Given the description of an element on the screen output the (x, y) to click on. 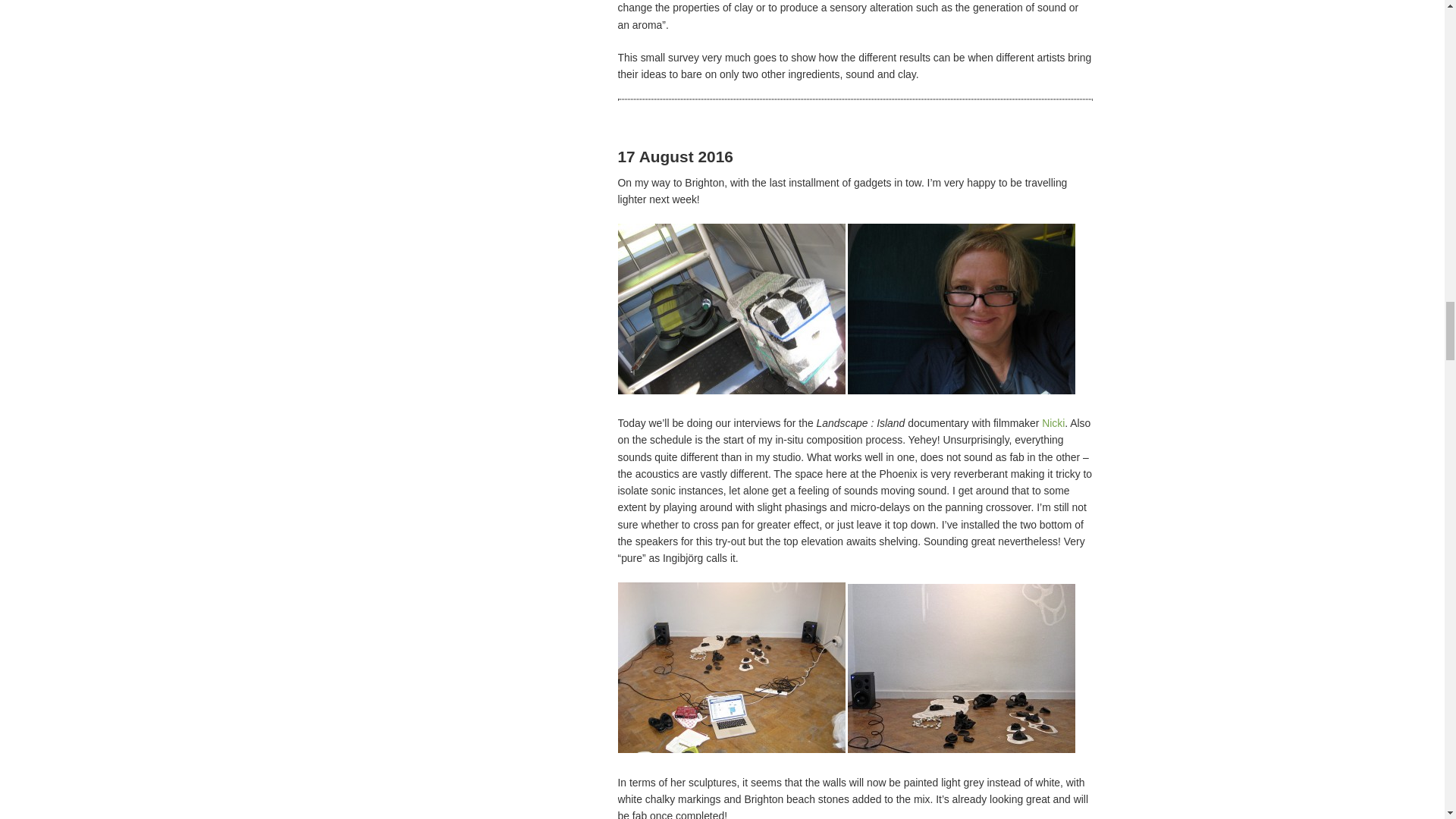
Nicki (1053, 422)
